Given the description of an element on the screen output the (x, y) to click on. 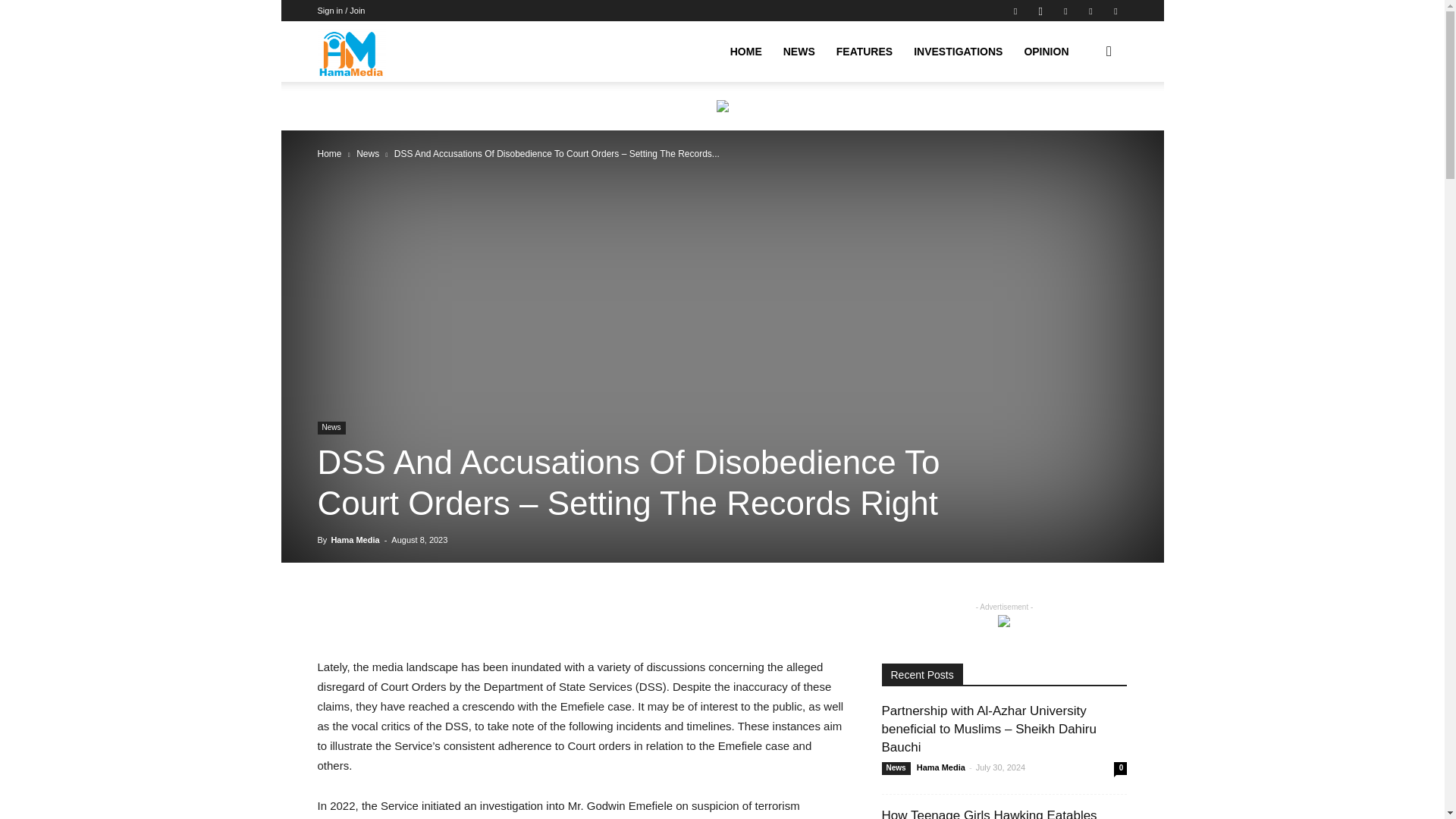
Hama Media (351, 51)
Vimeo (1090, 10)
Youtube (1114, 10)
Search (1085, 124)
View all posts in News (367, 153)
Instagram (1040, 10)
Facebook (1015, 10)
OPINION (1045, 51)
Home (328, 153)
News (367, 153)
FEATURES (863, 51)
INVESTIGATIONS (957, 51)
Twitter (1065, 10)
